Given the description of an element on the screen output the (x, y) to click on. 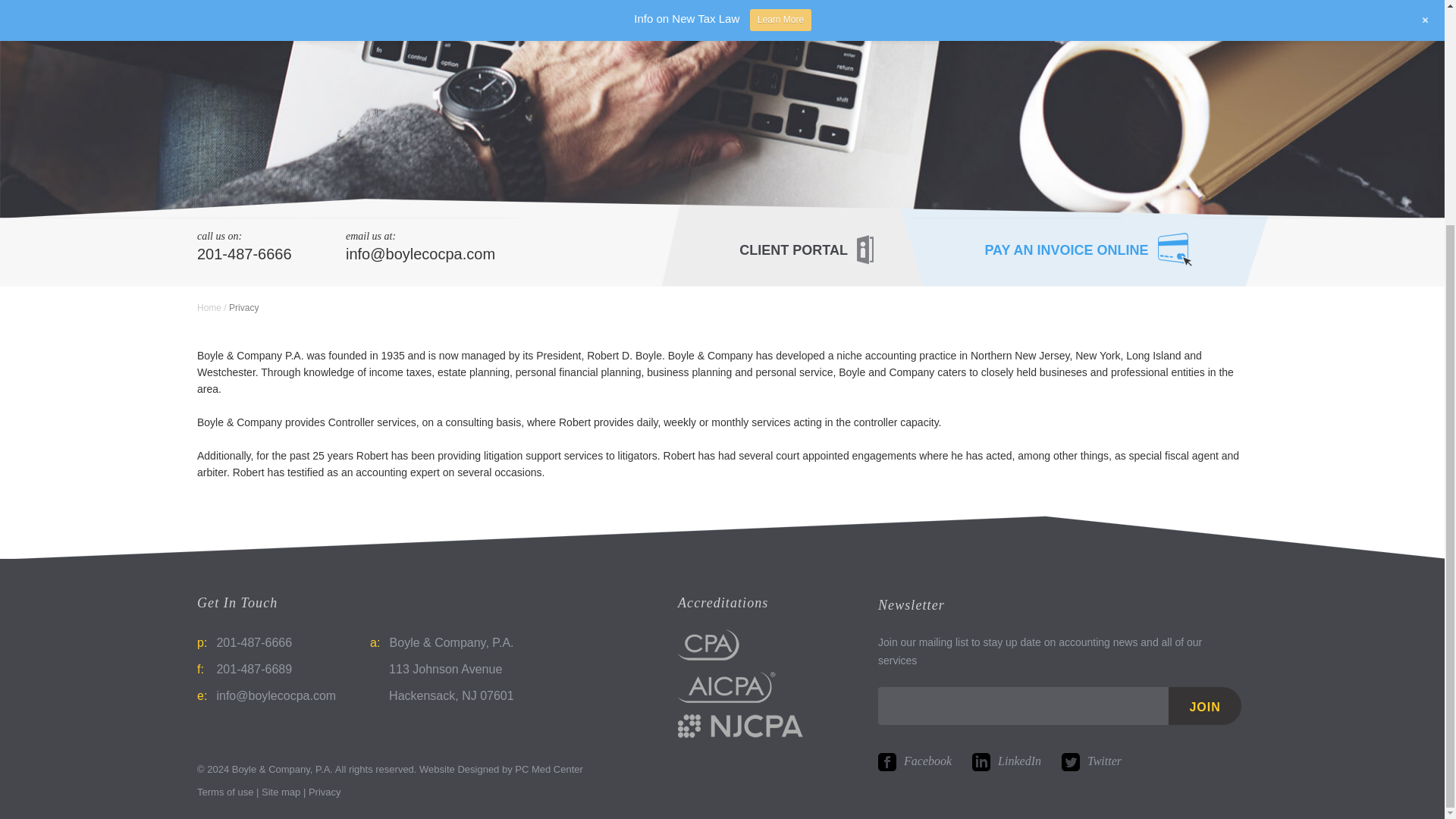
Twitter (1091, 760)
Site map (280, 791)
Website Designed by PC Med Center (501, 768)
LinkedIn (1006, 760)
PAY AN INVOICE ONLINE (1087, 251)
Terms of use (224, 791)
201-487-6666 (271, 254)
201-487-6666 (253, 642)
Join (1205, 705)
Facebook (914, 760)
CLIENT PORTAL (806, 249)
Join (1205, 705)
Privacy (324, 791)
Home (208, 307)
